Given the description of an element on the screen output the (x, y) to click on. 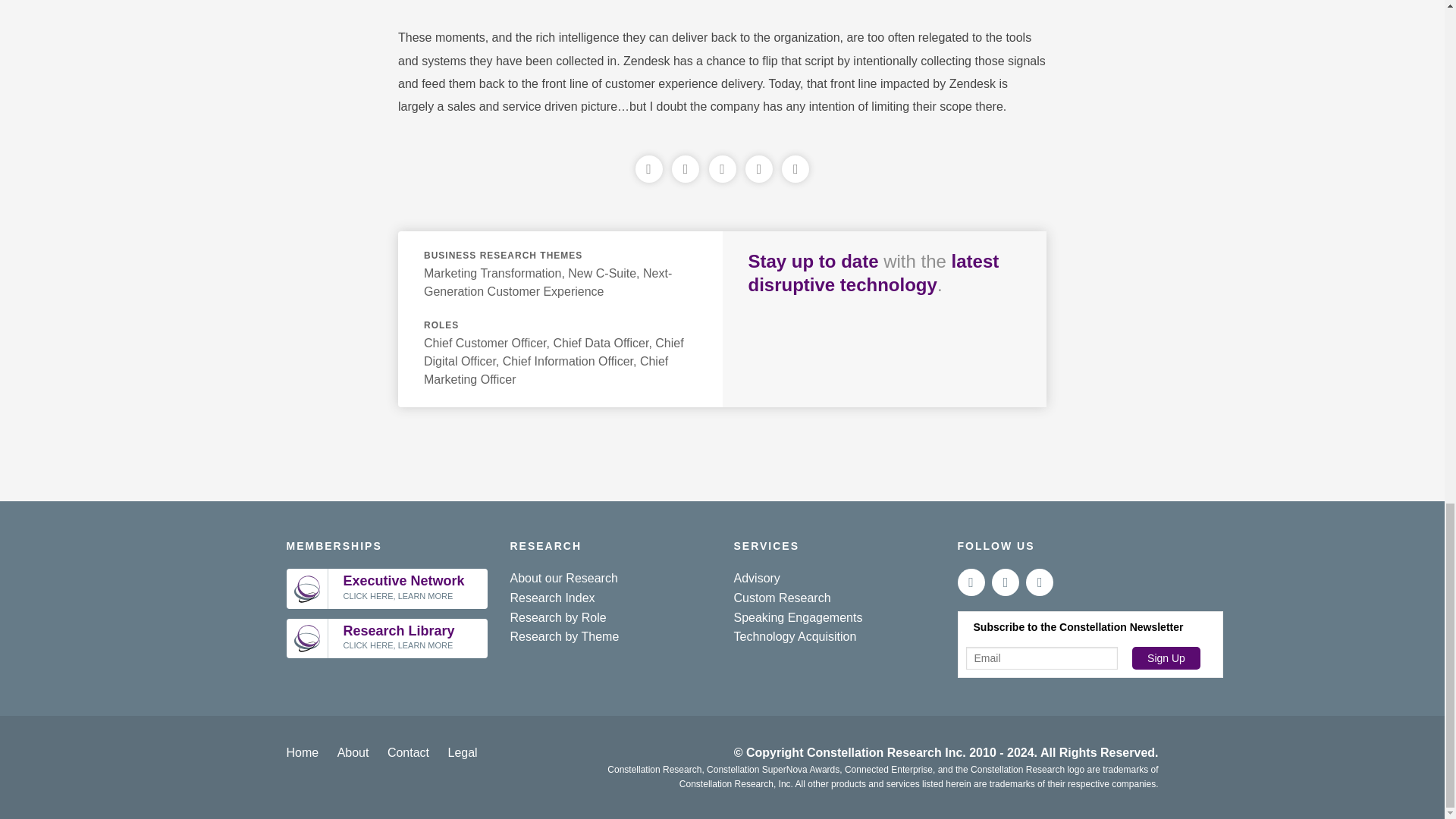
Sign Up (1165, 658)
